Given the description of an element on the screen output the (x, y) to click on. 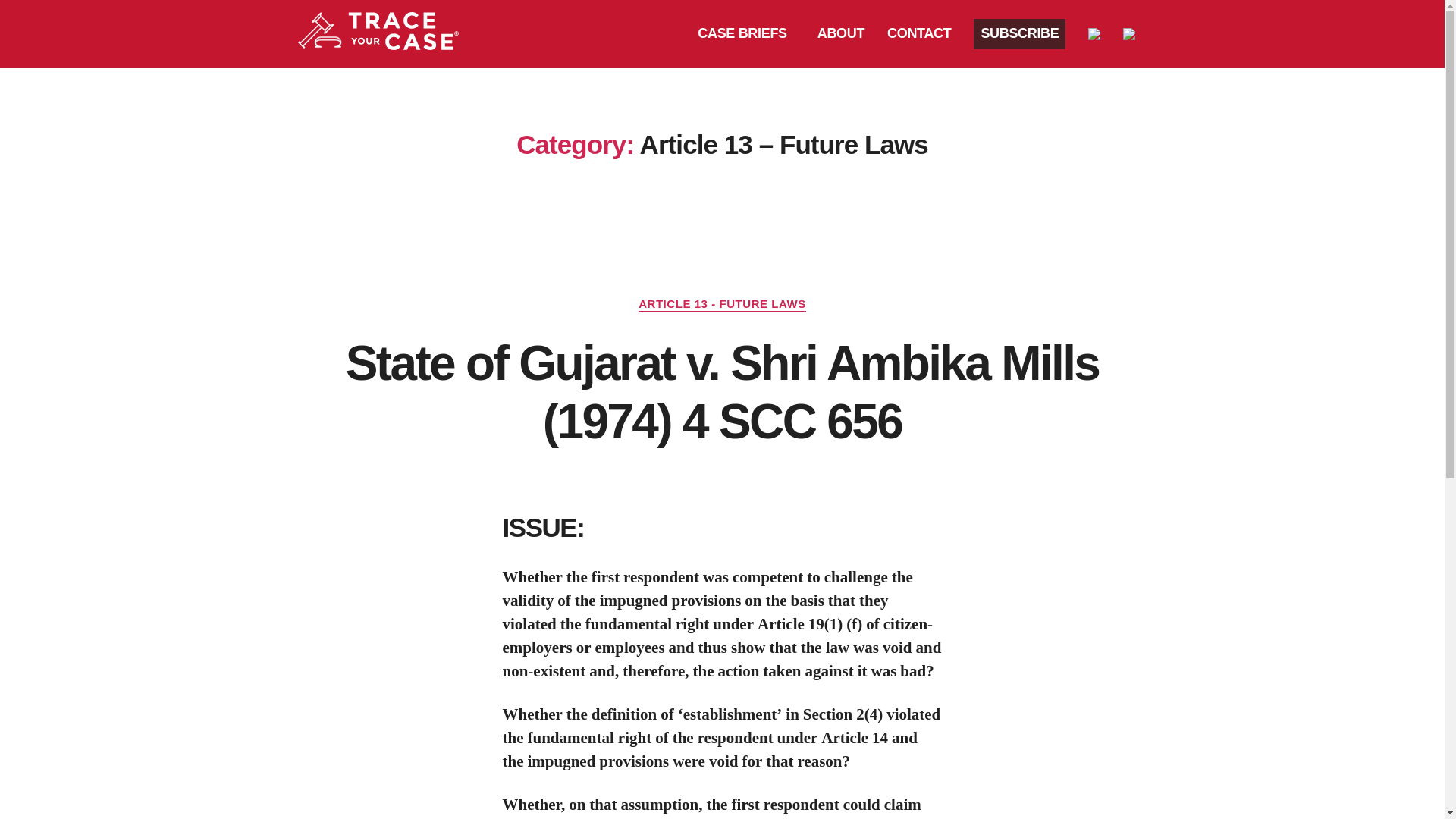
CONTACT (919, 34)
SUBSCRIBE (1019, 33)
CASE BRIEFS (745, 34)
ABOUT (841, 34)
ARTICLE 13 - FUTURE LAWS (722, 304)
